Given the description of an element on the screen output the (x, y) to click on. 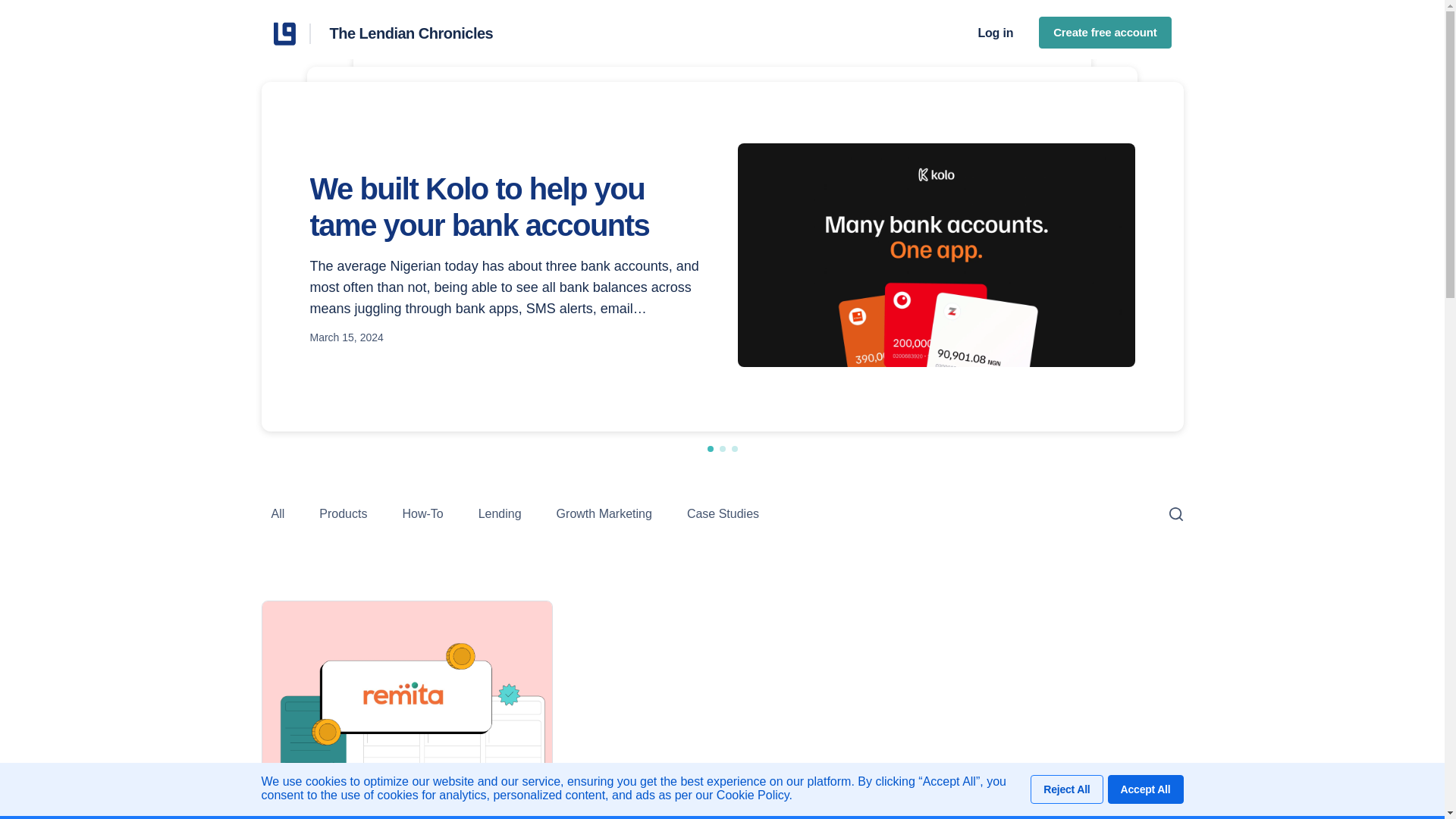
Reject All (1066, 788)
Growth Marketing (604, 513)
The Lendian Chronicles (290, 33)
Create free account (1104, 32)
All (277, 513)
Lending (500, 513)
Case Studies (722, 513)
We built Kolo to help you tame your bank accounts (507, 205)
Legal compliance pitfalls lenders must avoid in Nigeria (553, 175)
